Given the description of an element on the screen output the (x, y) to click on. 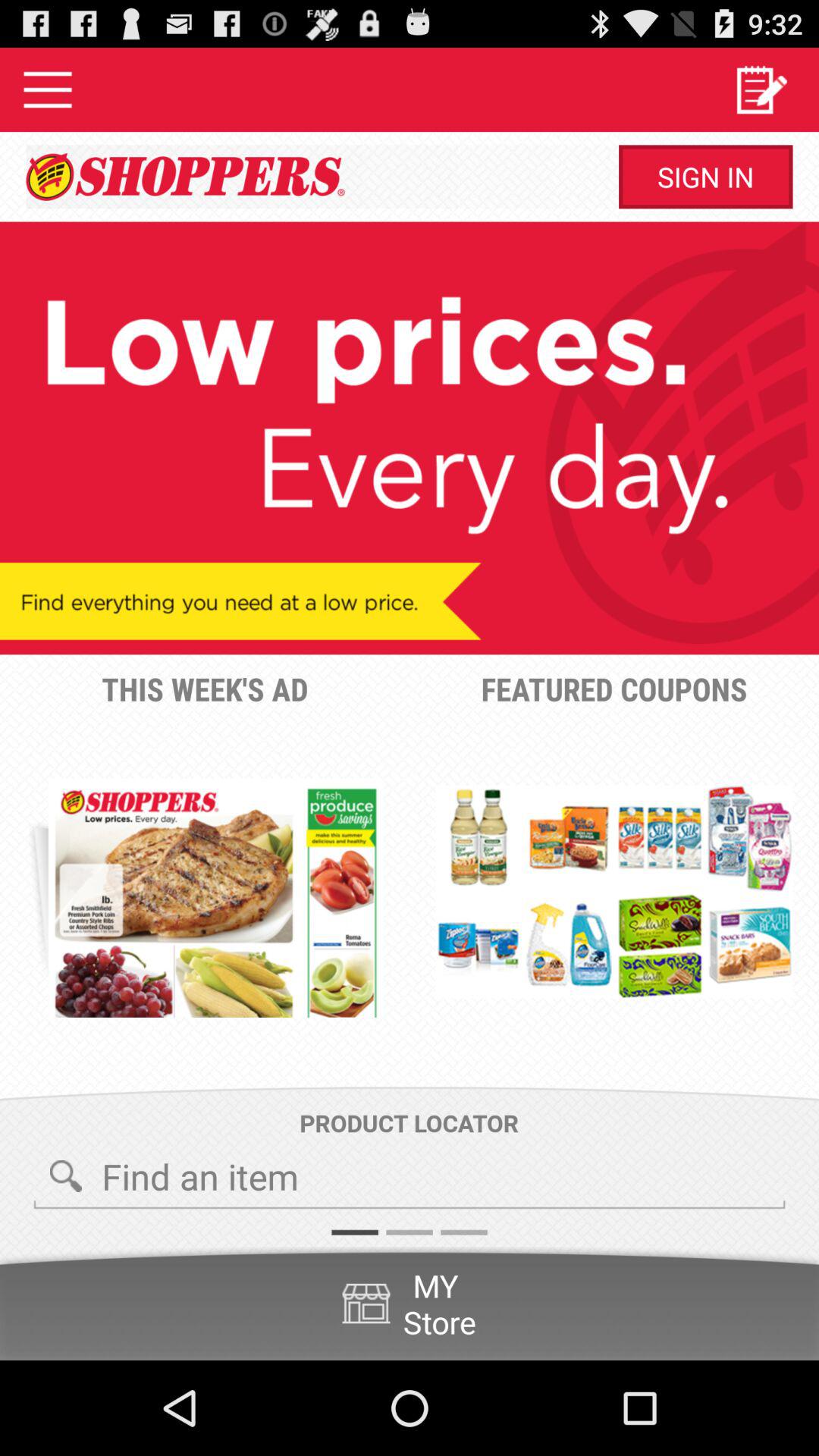
options menu (47, 89)
